Given the description of an element on the screen output the (x, y) to click on. 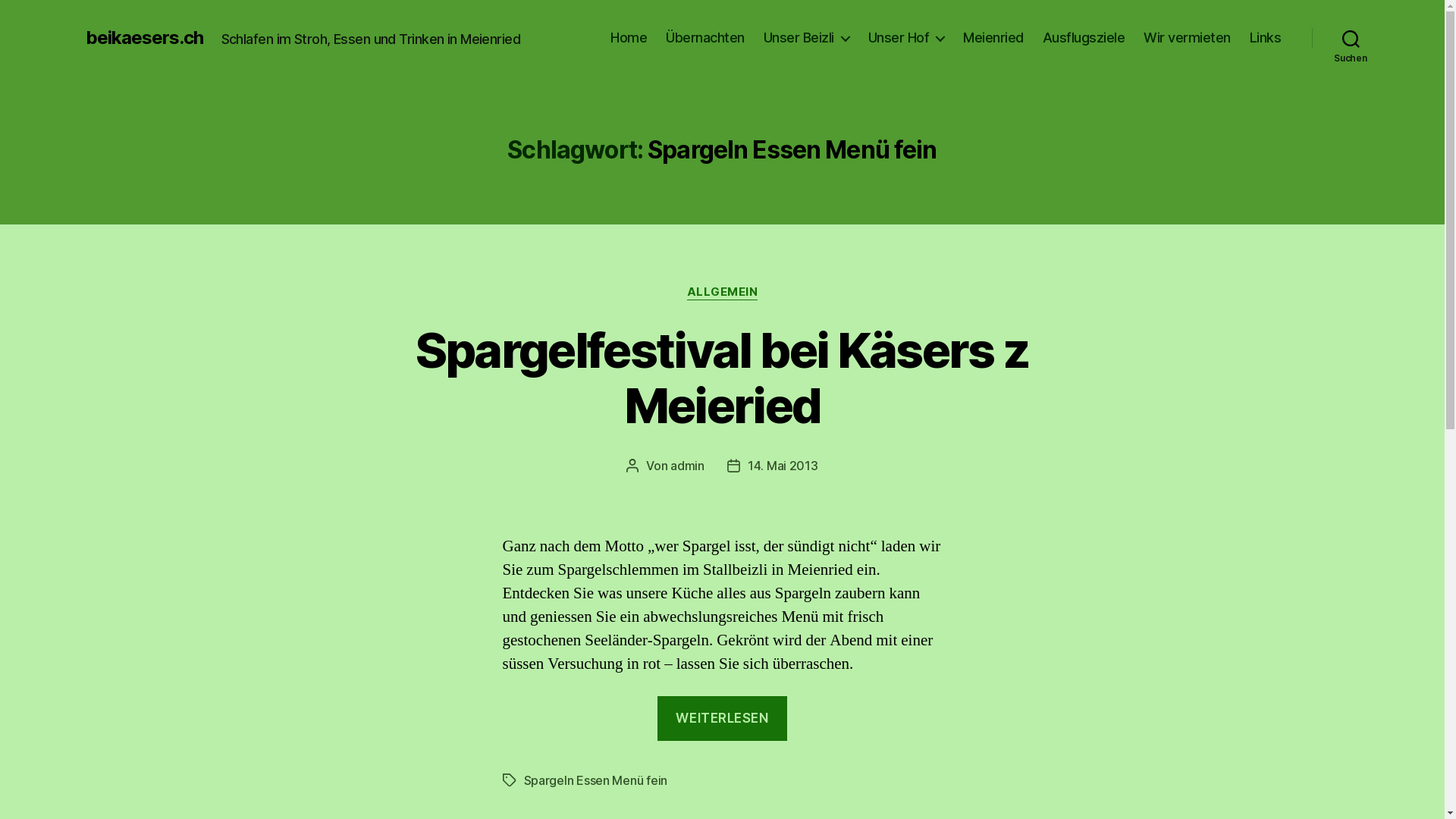
Suchen Element type: text (1350, 37)
Links Element type: text (1265, 37)
ALLGEMEIN Element type: text (722, 292)
14. Mai 2013 Element type: text (782, 465)
admin Element type: text (687, 465)
Unser Hof Element type: text (906, 37)
Unser Beizli Element type: text (806, 37)
Home Element type: text (628, 37)
Wir vermieten Element type: text (1186, 37)
beikaesers.ch Element type: text (143, 37)
Meienried Element type: text (993, 37)
Ausflugsziele Element type: text (1083, 37)
